Given the description of an element on the screen output the (x, y) to click on. 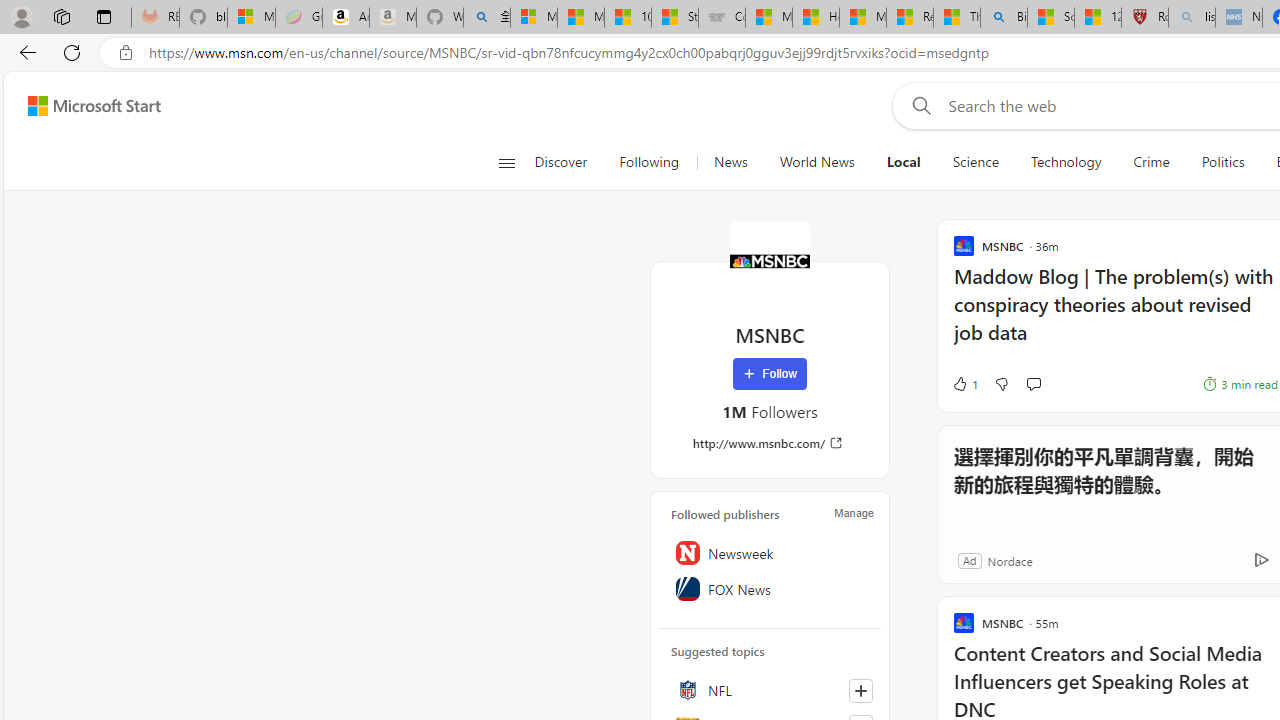
1 Like (964, 384)
Bing (1003, 17)
FOX News (770, 588)
